Given the description of an element on the screen output the (x, y) to click on. 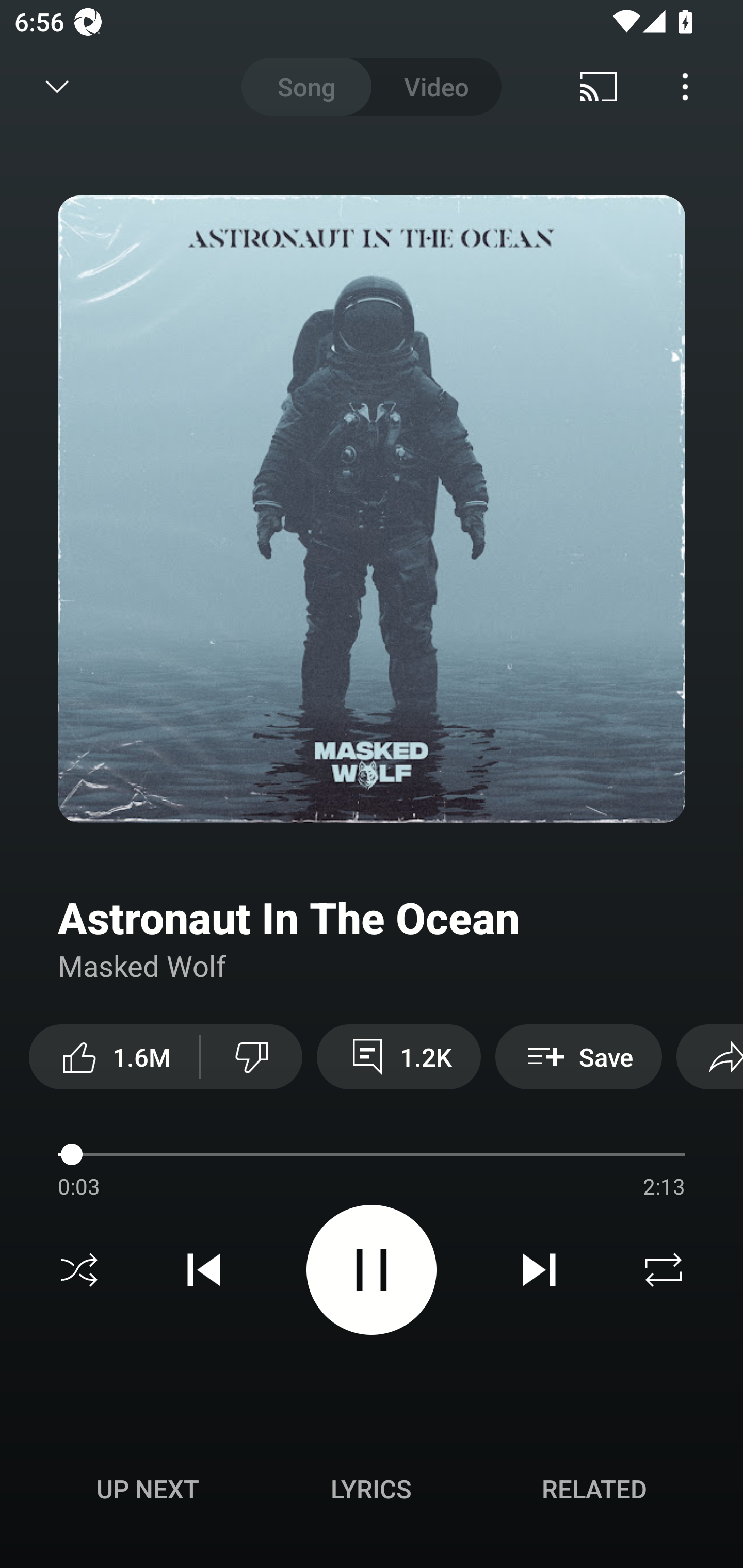
Minimize (57, 86)
Cast. Disconnected (598, 86)
Menu (684, 86)
Dislike (251, 1056)
1.2K View 1,254 comments (398, 1056)
Save Save to playlist (578, 1056)
Share (709, 1056)
Pause video (371, 1269)
Shuffle off (79, 1269)
Previous track (203, 1269)
Next track (538, 1269)
Repeat off (663, 1269)
Up next UP NEXT Lyrics LYRICS Related RELATED (371, 1491)
Lyrics LYRICS (370, 1488)
Related RELATED (594, 1488)
